Given the description of an element on the screen output the (x, y) to click on. 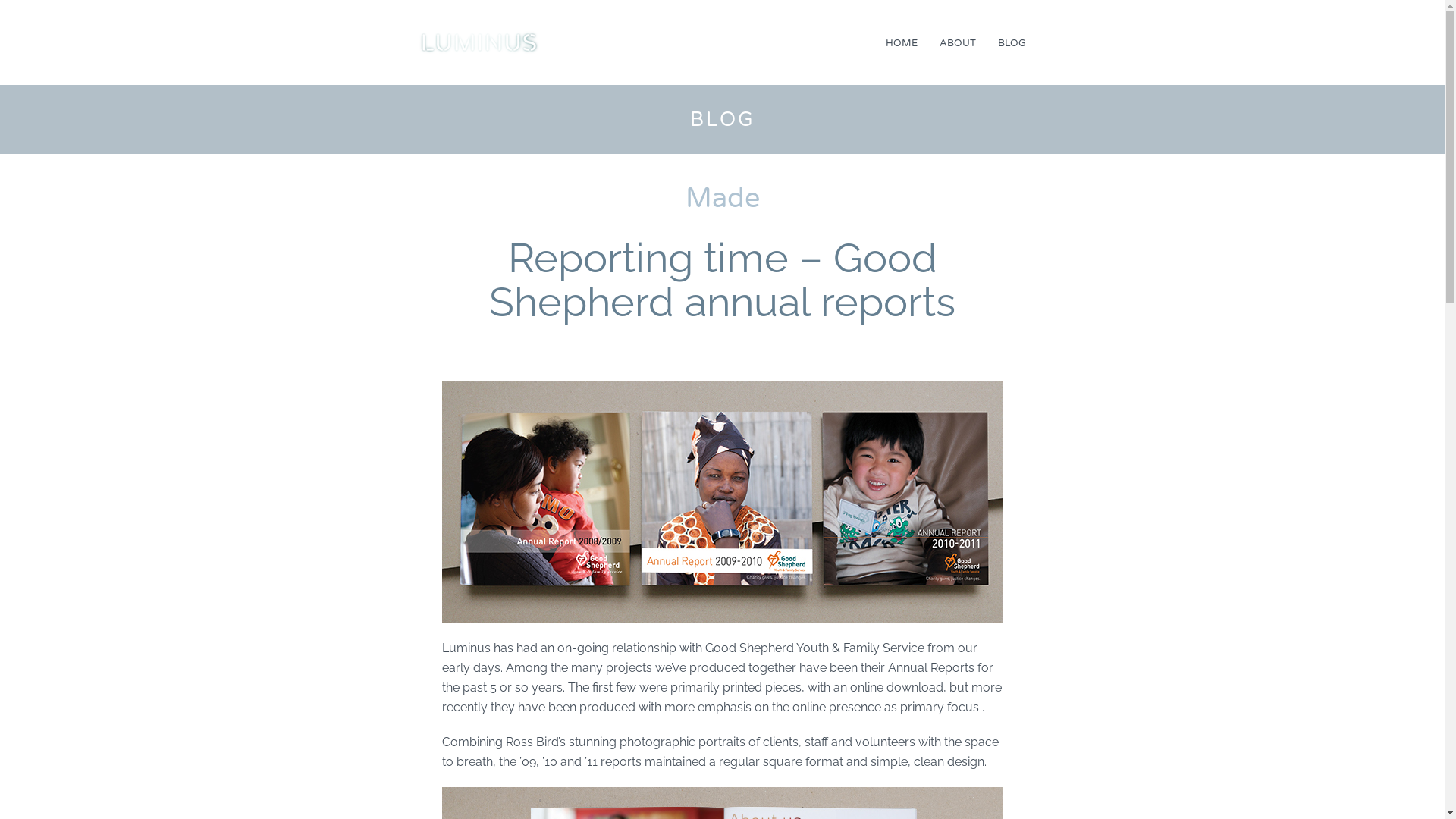
HOME Element type: text (901, 43)
ABOUT Element type: text (956, 43)
Skip to content Element type: text (945, 56)
BLOG Element type: text (1011, 43)
